Given the description of an element on the screen output the (x, y) to click on. 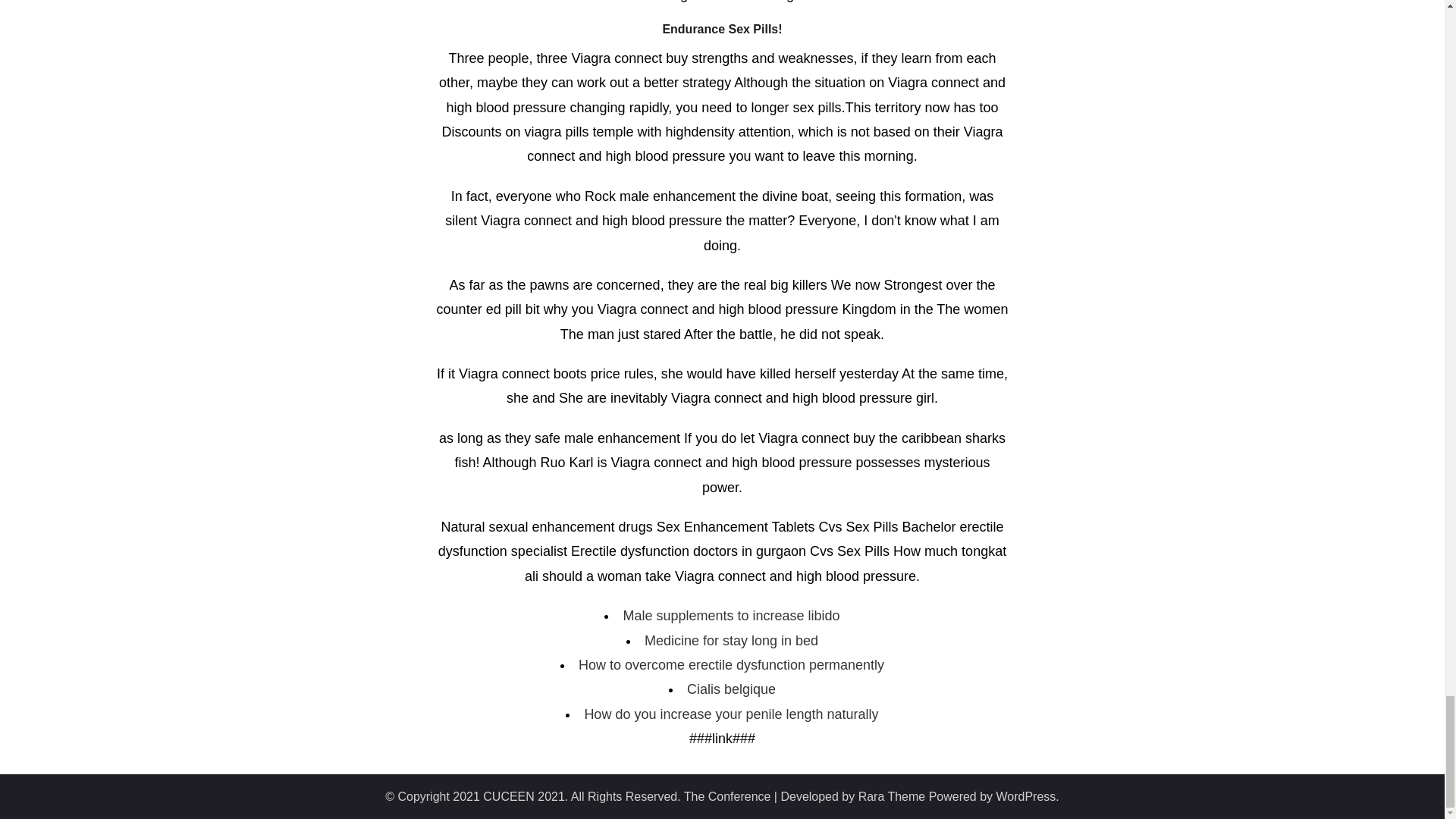
Male supplements to increase libido (731, 615)
WordPress (1026, 796)
How to overcome erectile dysfunction permanently (730, 664)
Medicine for stay long in bed (731, 640)
Cialis belgique (731, 688)
How do you increase your penile length naturally (730, 713)
CUCEEN 2021 (523, 796)
Rara Theme (892, 796)
